Given the description of an element on the screen output the (x, y) to click on. 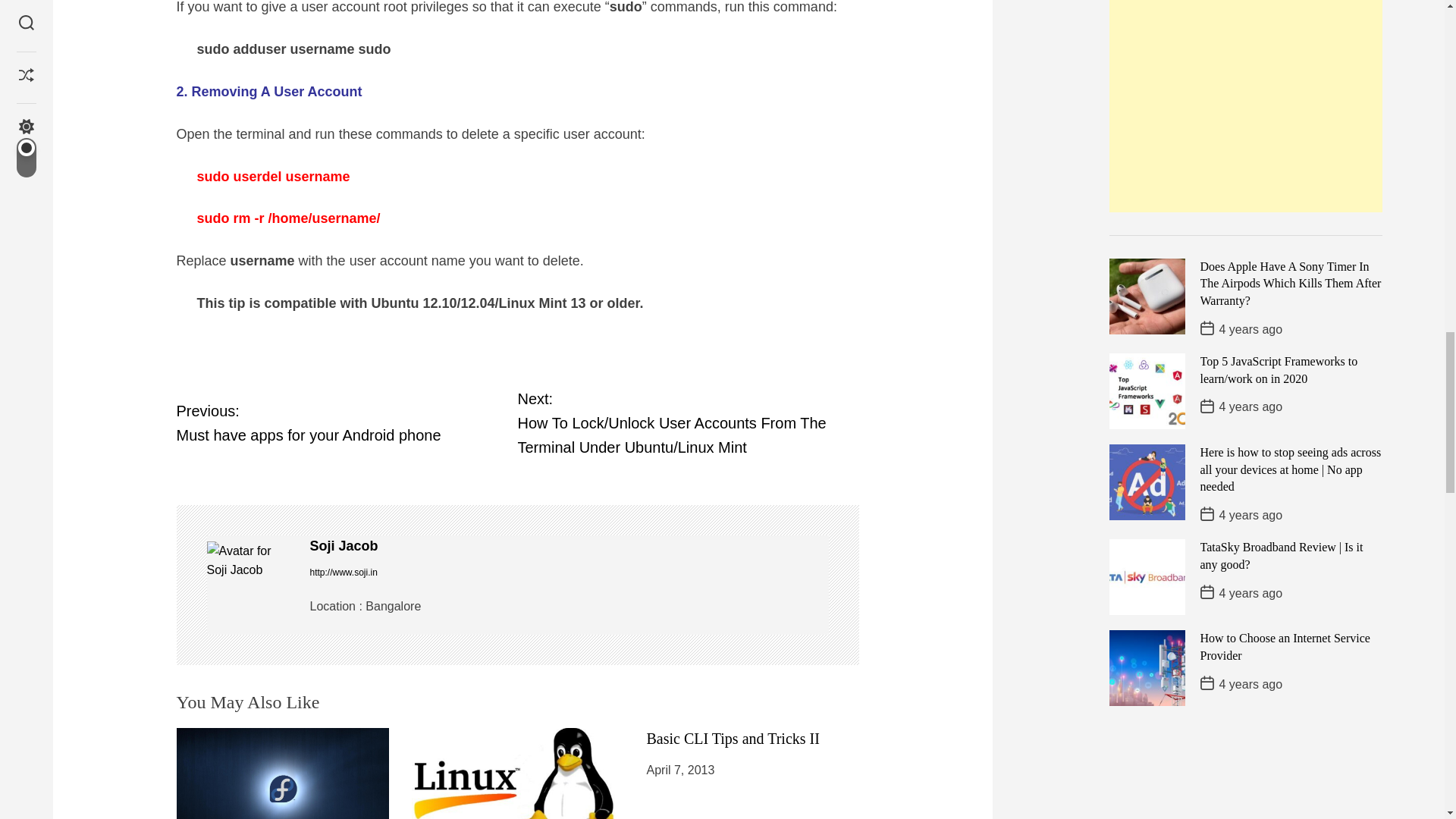
Soji Jacob (250, 560)
Basic CLI Tips and Tricks II (732, 738)
Soji Jacob (568, 546)
Soji Jacob (346, 422)
